Given the description of an element on the screen output the (x, y) to click on. 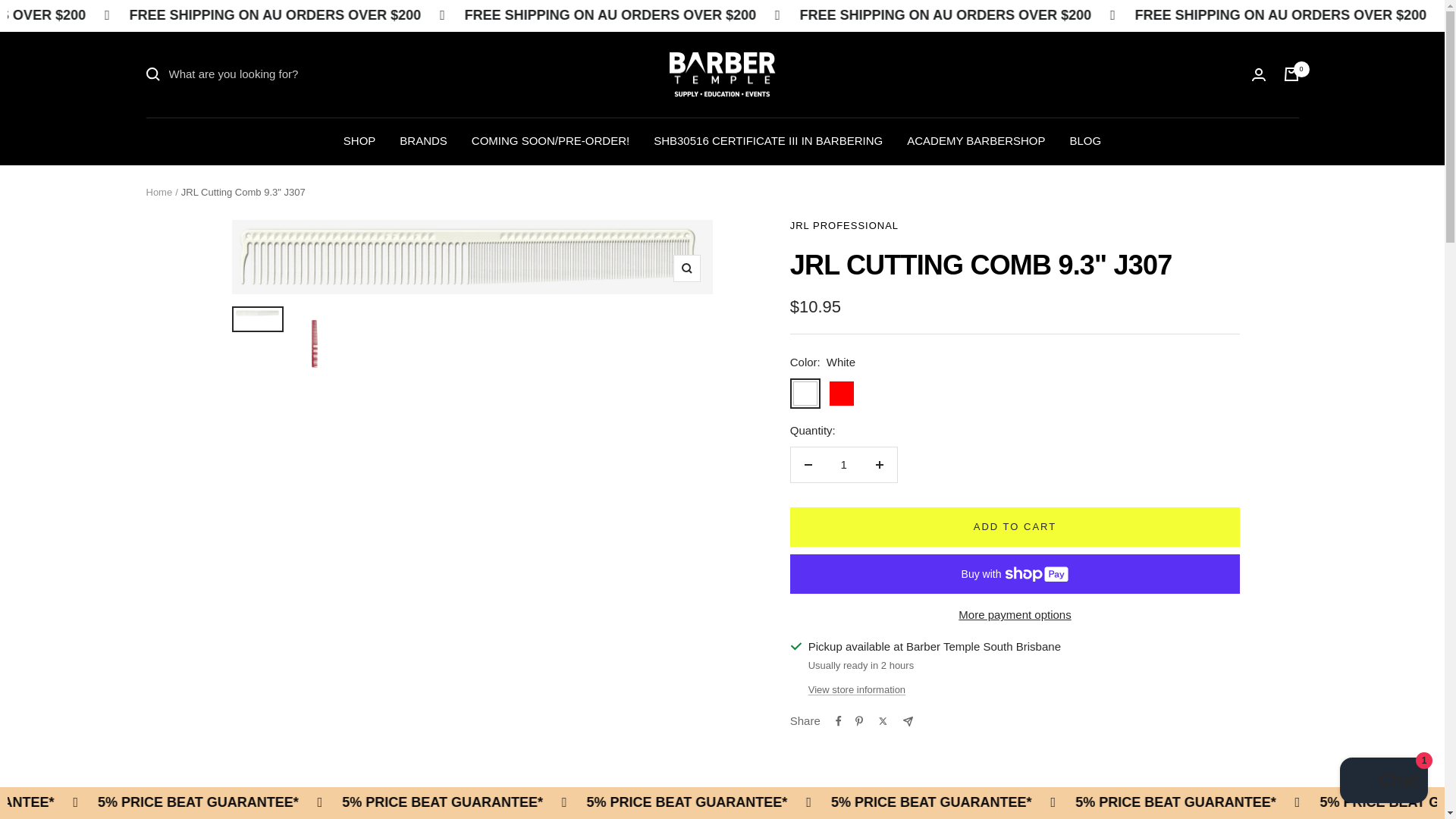
Home (158, 192)
1 (843, 464)
BLOG (1084, 140)
Zoom (686, 267)
BRANDS (422, 140)
Decrease quantity (807, 464)
SHB30516 CERTIFICATE III IN BARBERING (767, 140)
More payment options (1015, 614)
Barber Temple (721, 74)
ACADEMY BARBERSHOP (976, 140)
JRL PROFESSIONAL (844, 225)
SHOP (359, 140)
ADD TO CART (1015, 526)
